Given the description of an element on the screen output the (x, y) to click on. 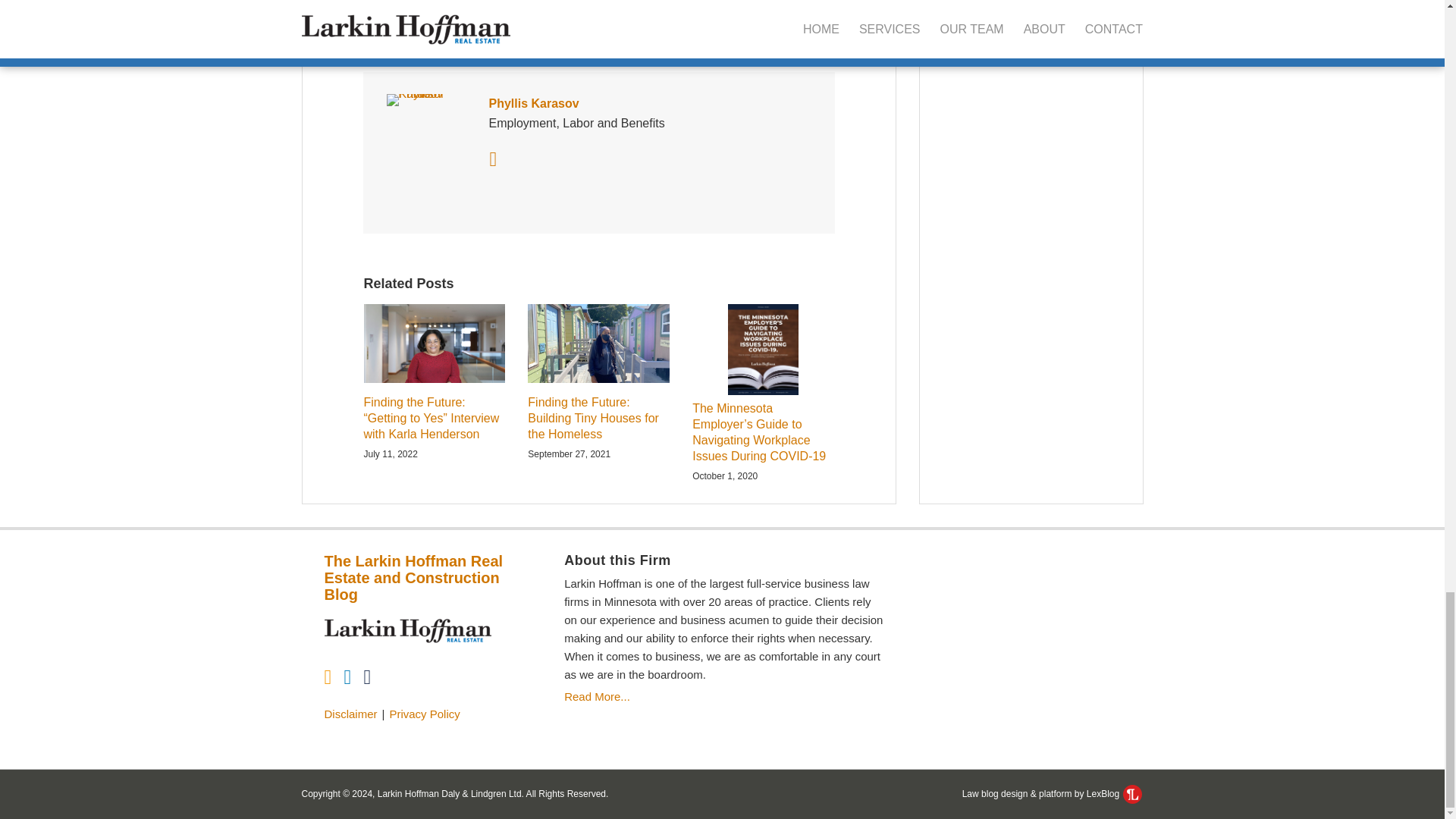
Phyllis Karasov (599, 103)
Finding the Future: Building Tiny Houses for the Homeless (598, 418)
LexBlog Logo (1131, 793)
